Given the description of an element on the screen output the (x, y) to click on. 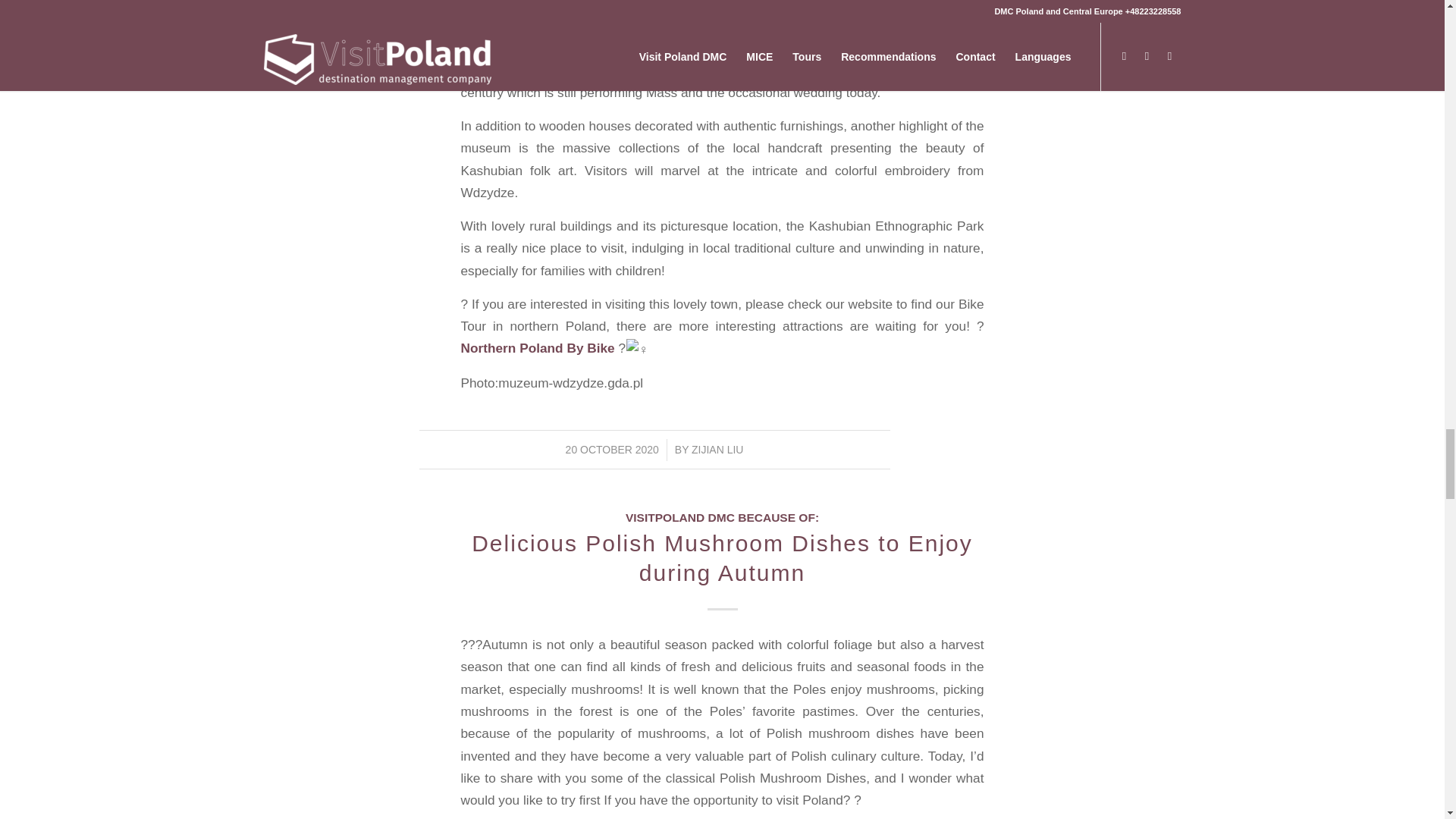
Northern Poland By Bike (537, 347)
ZIJIAN LIU (716, 449)
VISITPOLAND DMC BECAUSE OF: (722, 517)
Delicious Polish Mushroom Dishes to Enjoy during Autumn (721, 557)
